Given the description of an element on the screen output the (x, y) to click on. 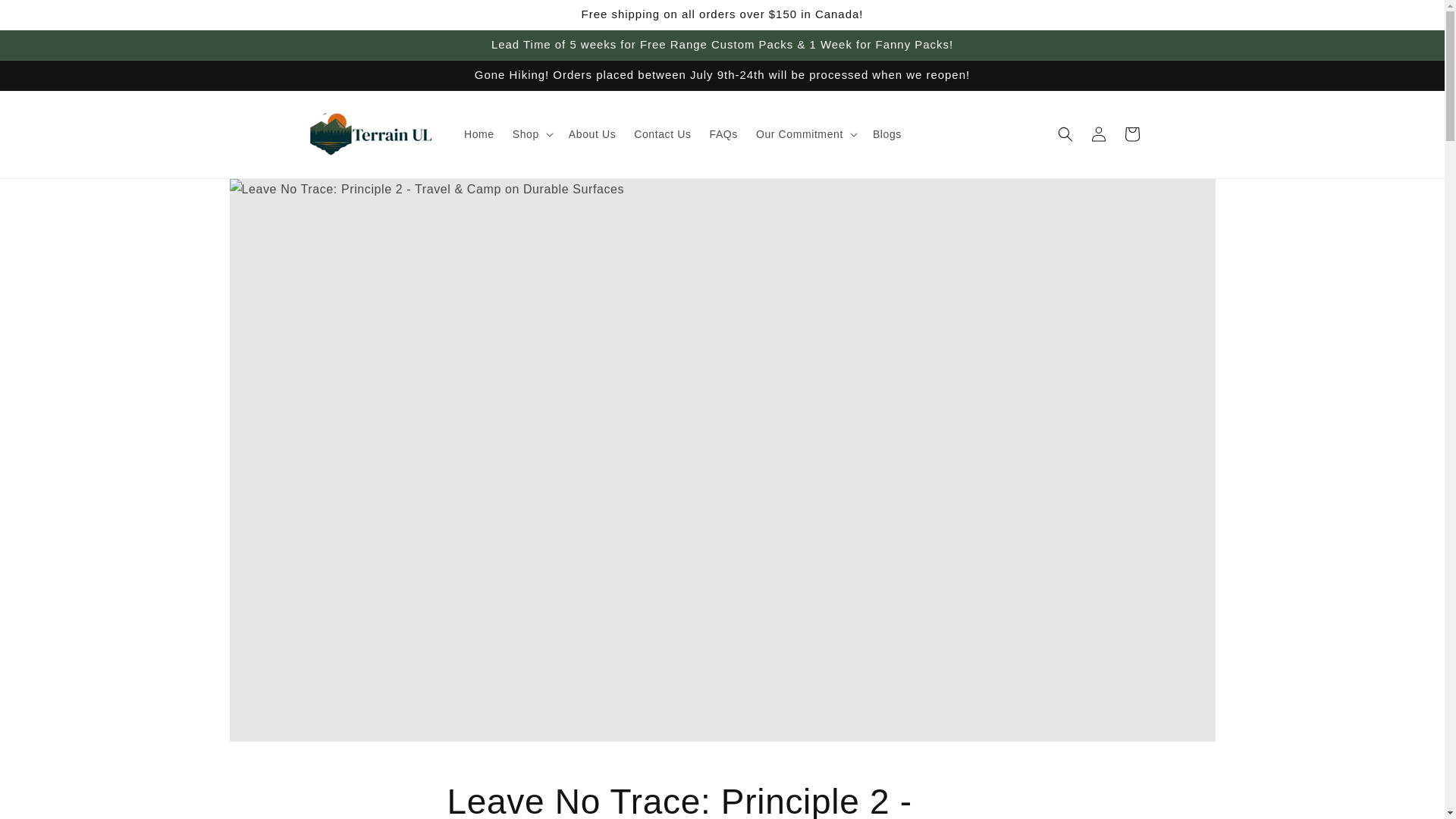
About Us (591, 133)
Skip to content (46, 18)
Home (478, 133)
